Given the description of an element on the screen output the (x, y) to click on. 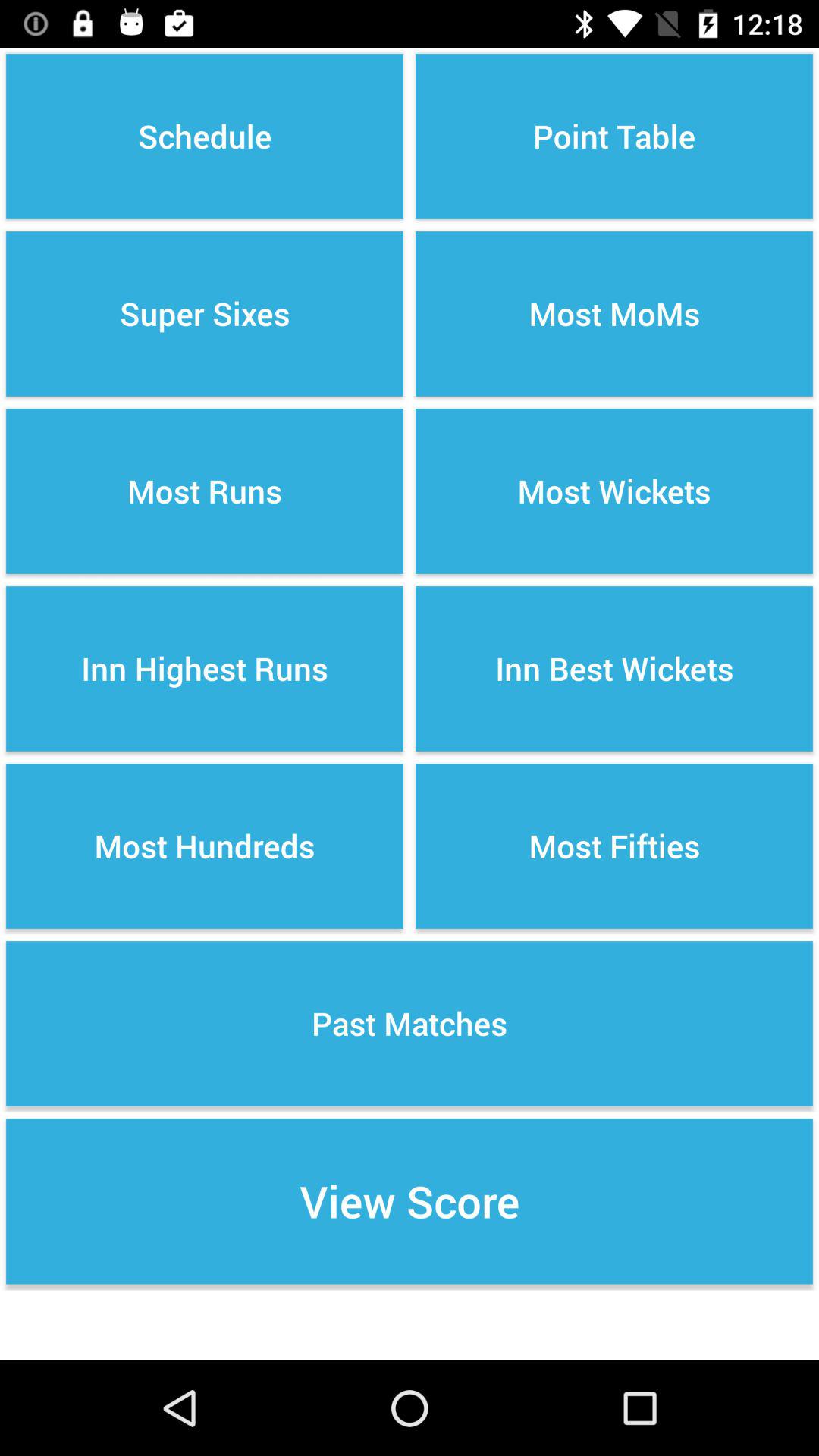
turn off the item next to the point table (204, 313)
